Given the description of an element on the screen output the (x, y) to click on. 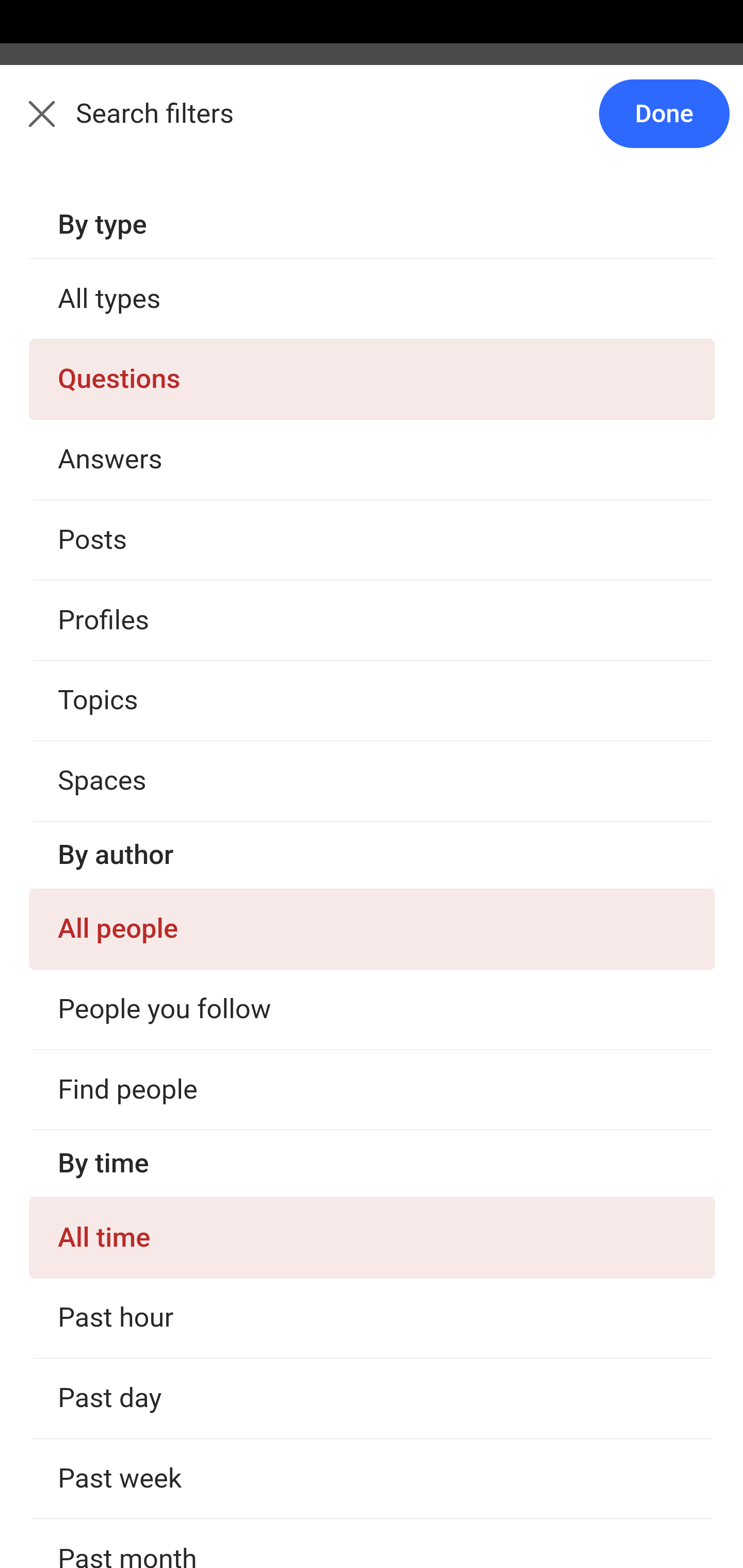
Back Search (371, 125)
Back (30, 125)
Answer (125, 387)
Answer (125, 784)
Answer (125, 1179)
